Given the description of an element on the screen output the (x, y) to click on. 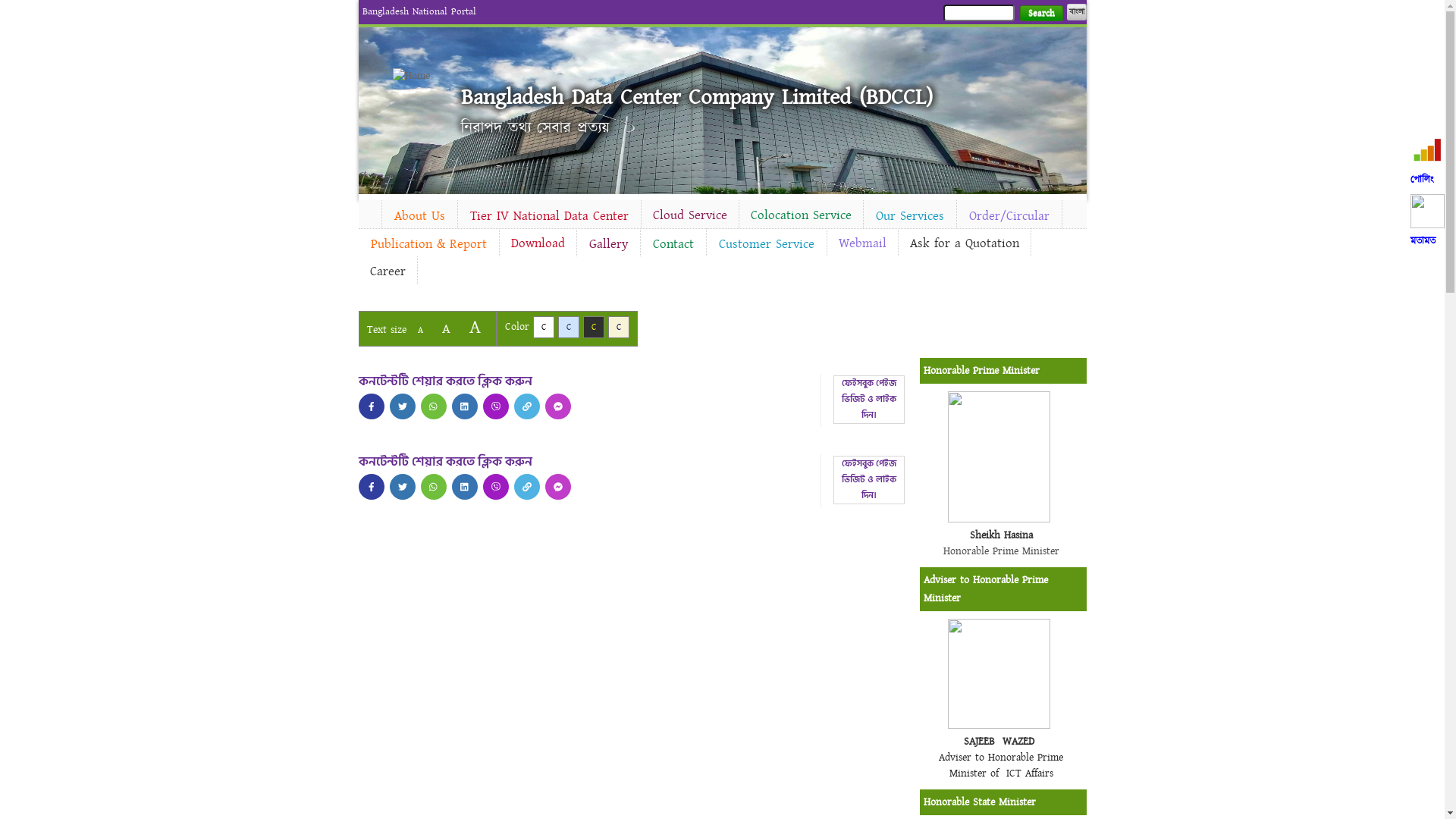
A Element type: text (445, 328)
Order/Circular Element type: text (1009, 216)
Cloud Service Element type: text (689, 215)
Download Element type: text (536, 243)
Search Element type: text (1040, 13)
Our Services Element type: text (908, 216)
C Element type: text (592, 327)
Home Element type: hover (418, 76)
Home Element type: hover (368, 211)
C Element type: text (542, 327)
Career Element type: text (386, 271)
A Element type: text (474, 327)
Publication & Report Element type: text (427, 244)
C Element type: text (618, 327)
Bangladesh National Portal Element type: text (419, 11)
A Element type: text (419, 330)
Customer Service Element type: text (766, 244)
Bangladesh Data Center Company Limited (BDCCL) Element type: text (696, 96)
Webmail Element type: text (861, 243)
Ask for a Quotation Element type: text (963, 243)
About Us Element type: text (419, 216)
Gallery Element type: text (607, 244)
Tier IV National Data Center Element type: text (549, 216)
Contact Element type: text (672, 244)
Colocation Service Element type: text (800, 215)
C Element type: text (568, 327)
